Given the description of an element on the screen output the (x, y) to click on. 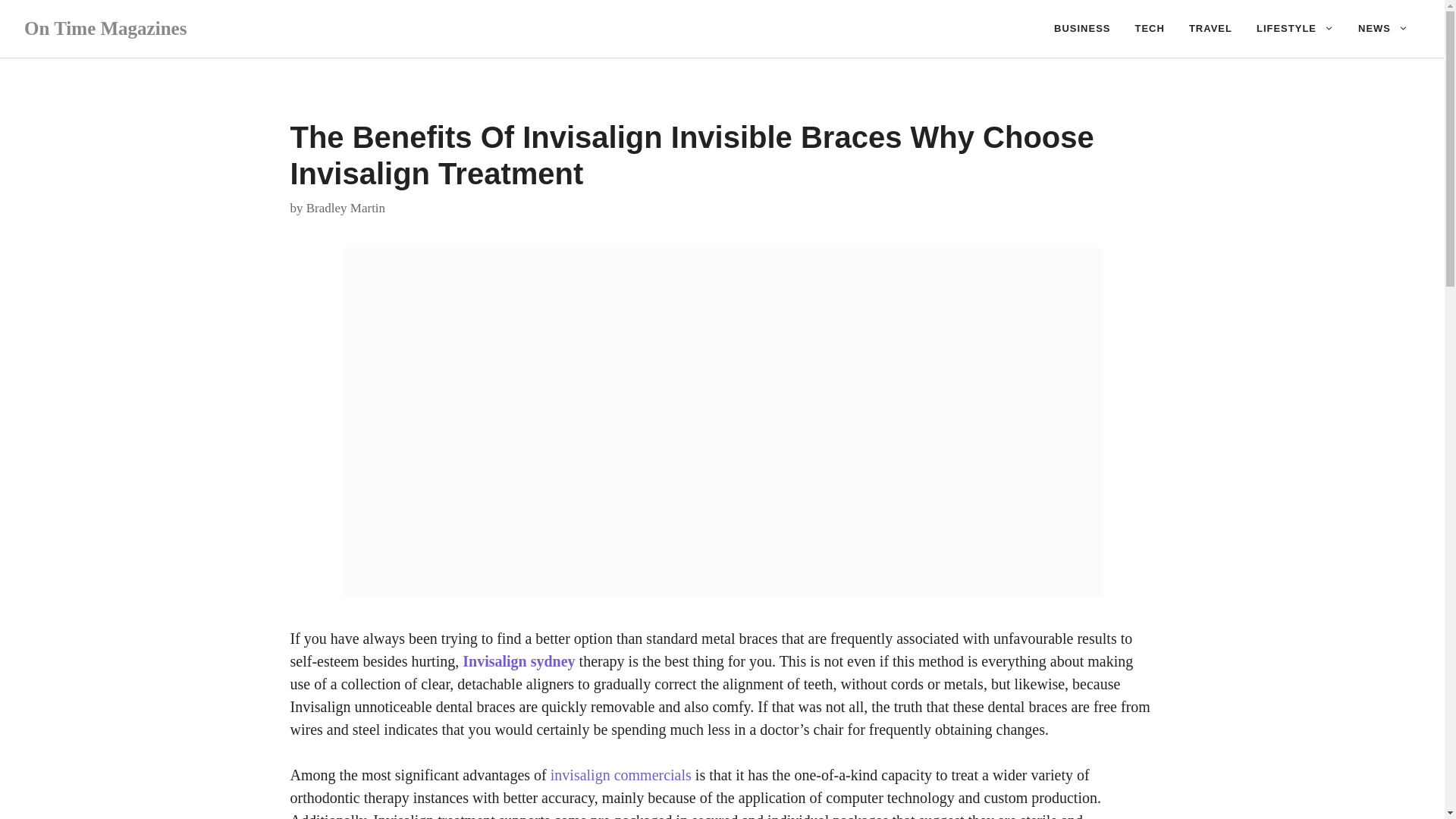
TRAVEL (1210, 28)
NEWS (1383, 28)
View all posts by Bradley Martin (345, 206)
TECH (1149, 28)
invisalign commercials (620, 774)
Bradley Martin (345, 206)
Invisalign sydney (519, 660)
BUSINESS (1082, 28)
LIFESTYLE (1294, 28)
On Time Magazines (105, 28)
